Given the description of an element on the screen output the (x, y) to click on. 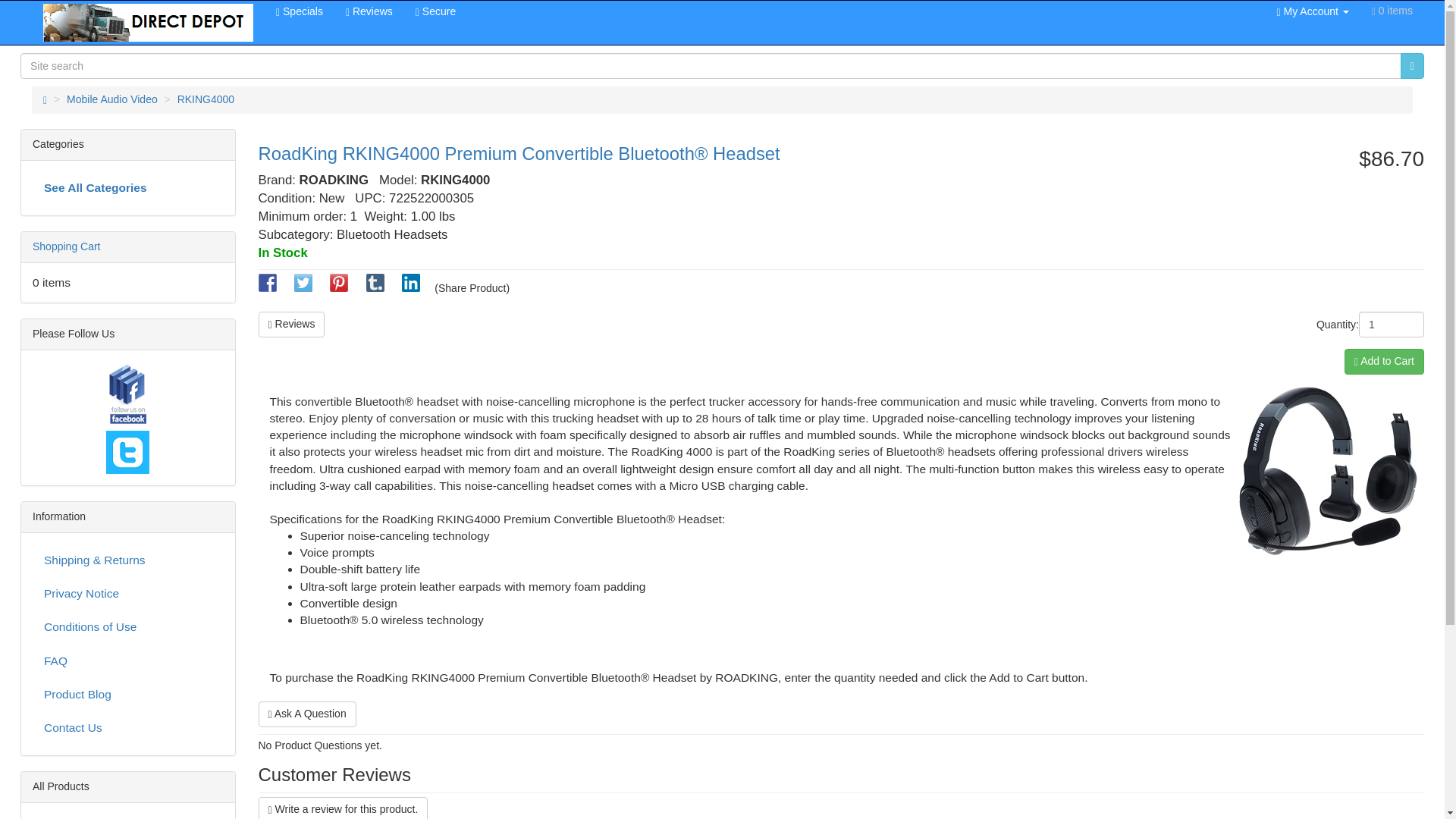
My Account (1312, 11)
Pin it with Pinterest (338, 287)
Share on Twitter (303, 287)
Share on tumblr (375, 287)
Specials (299, 11)
Share on linkedin (410, 287)
Conditions of Use (128, 626)
Shopping Cart (66, 246)
Write a review for this product. (342, 807)
Show All Trucking Products (128, 816)
Facebook (127, 395)
Ask A Question (306, 714)
Mobile Audio Video (111, 99)
See All Categories (128, 187)
Home (44, 99)
